Given the description of an element on the screen output the (x, y) to click on. 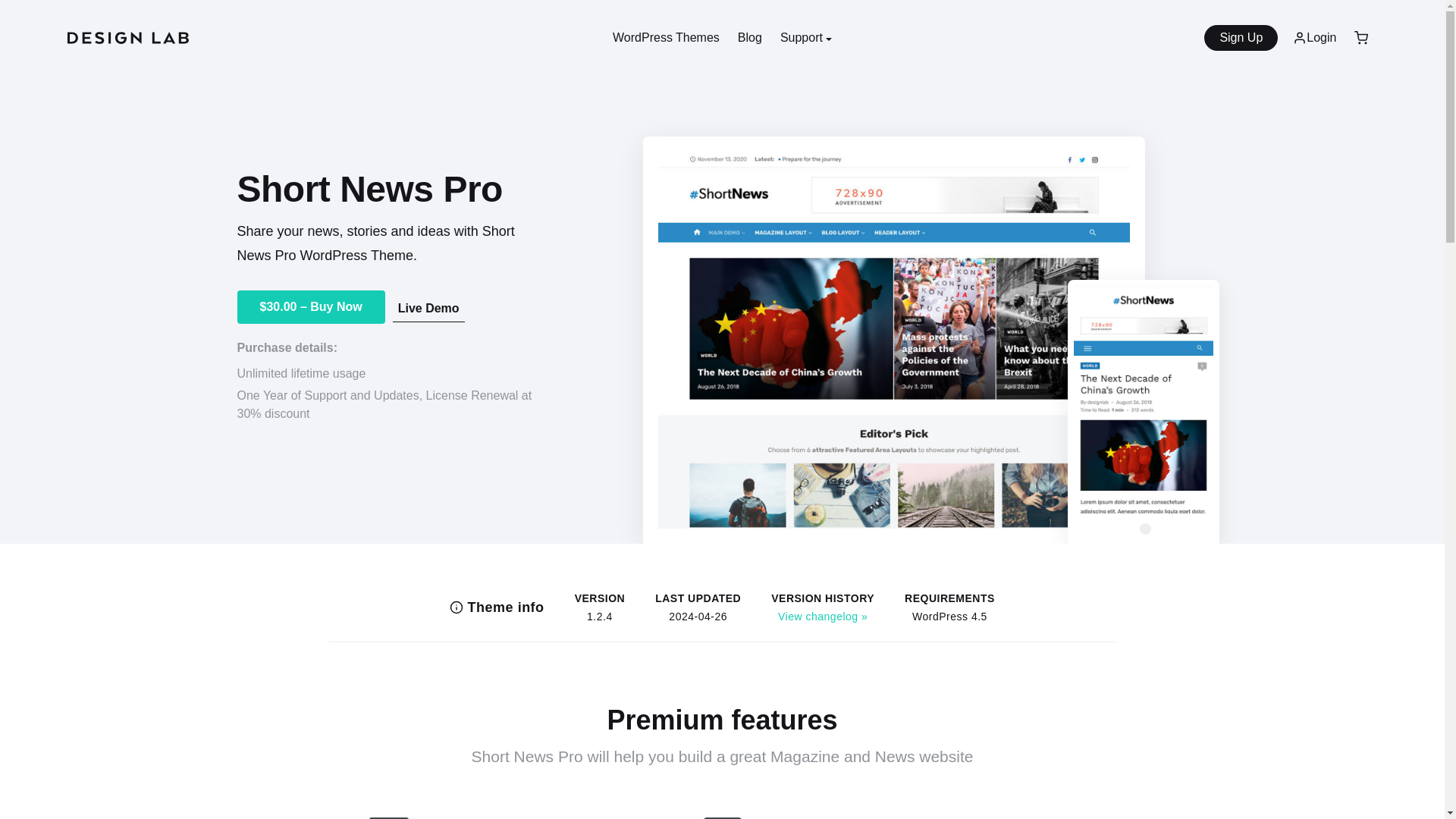
Sign Up (1241, 37)
Login (1314, 37)
WordPress Themes (666, 37)
Support (805, 37)
Blog (750, 37)
Live Demo (428, 306)
